Given the description of an element on the screen output the (x, y) to click on. 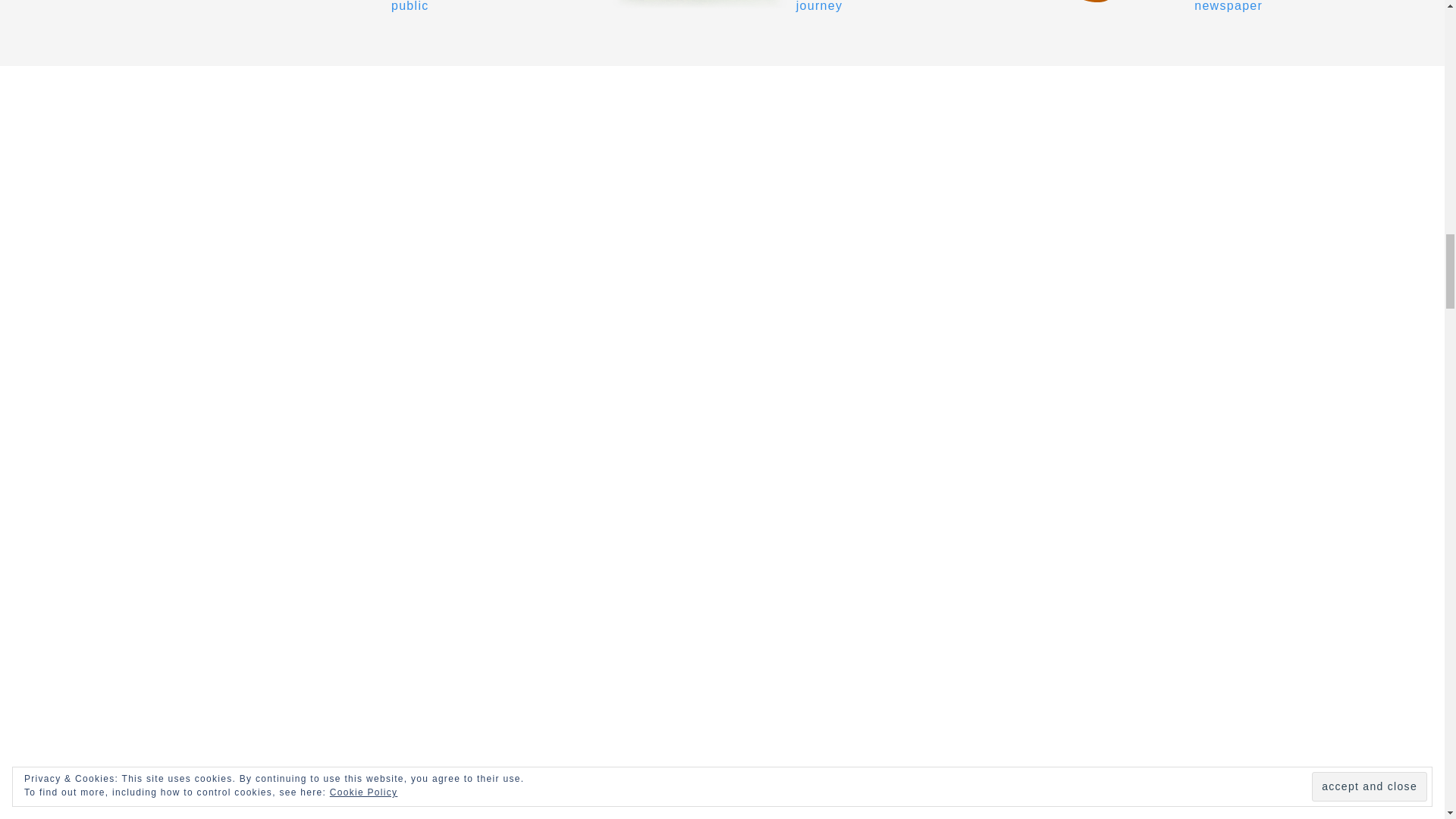
journey (722, 6)
public (312, 6)
newspaper (1131, 6)
